Given the description of an element on the screen output the (x, y) to click on. 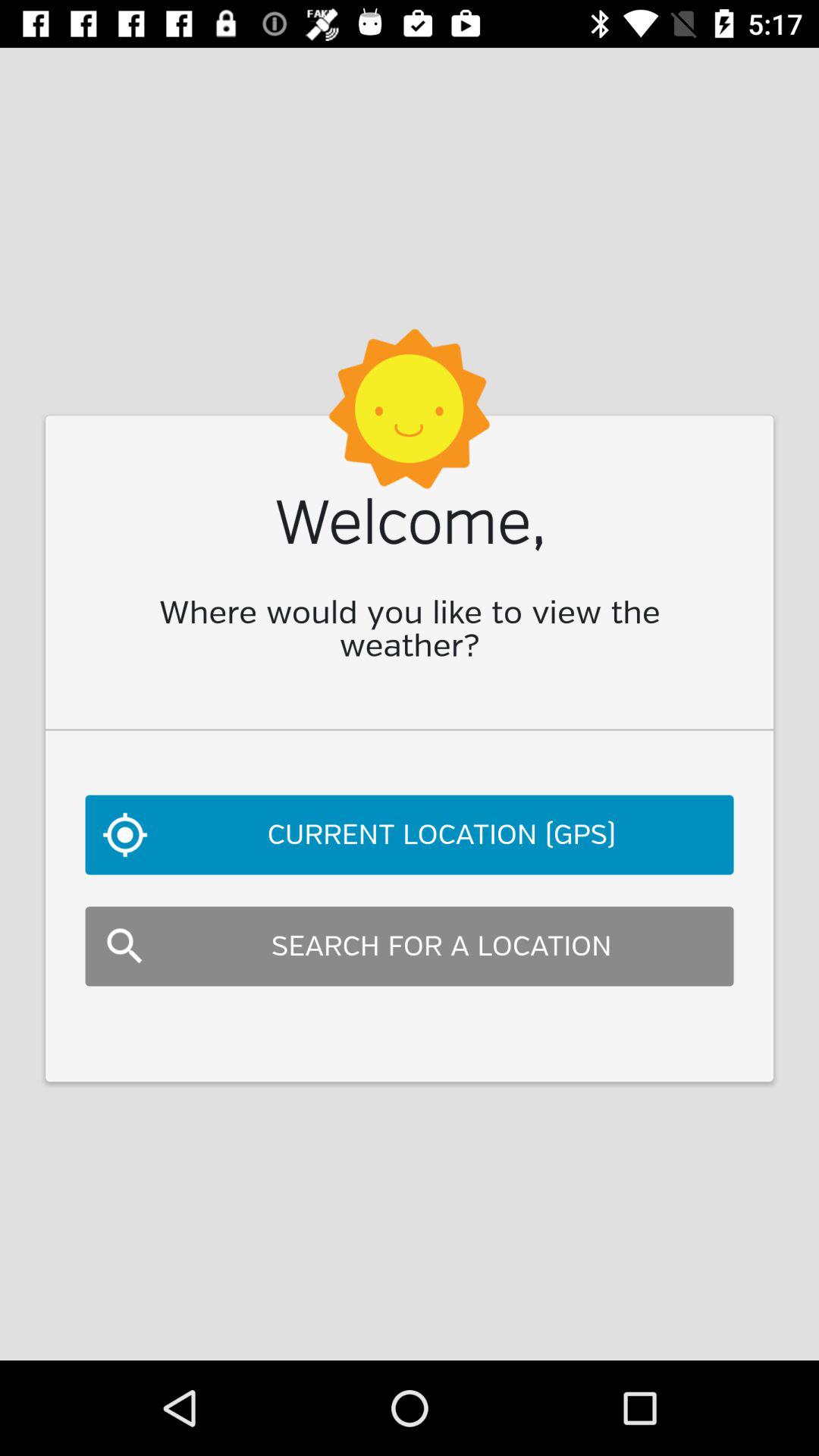
tap the search for a (409, 946)
